Given the description of an element on the screen output the (x, y) to click on. 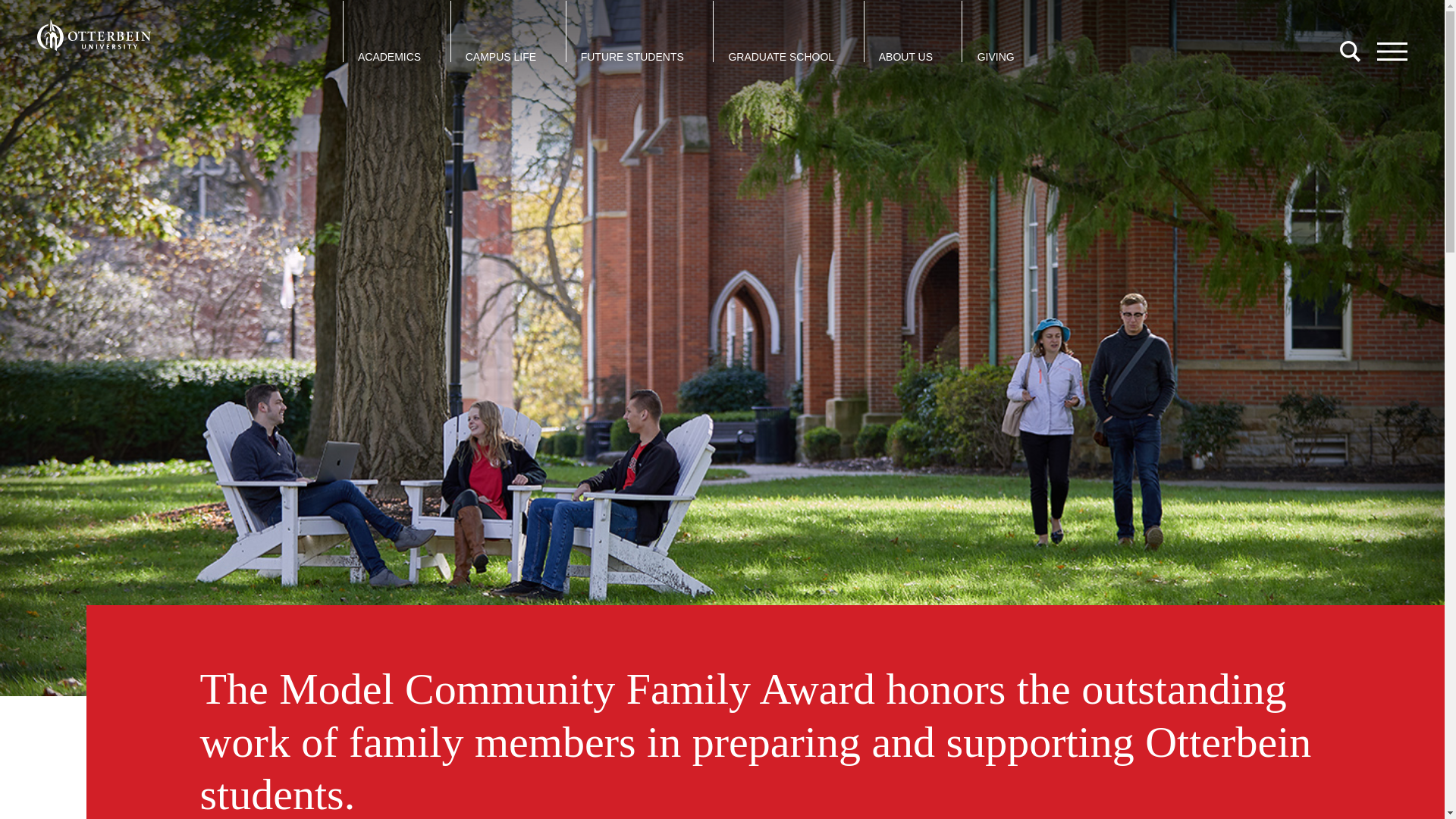
Menu (1392, 51)
Search (1349, 51)
CAMPUS LIFE (500, 56)
GIVING (995, 56)
GRADUATE SCHOOL (781, 56)
ACADEMICS (389, 56)
FUTURE STUDENTS (632, 56)
ABOUT US (906, 56)
